Given the description of an element on the screen output the (x, y) to click on. 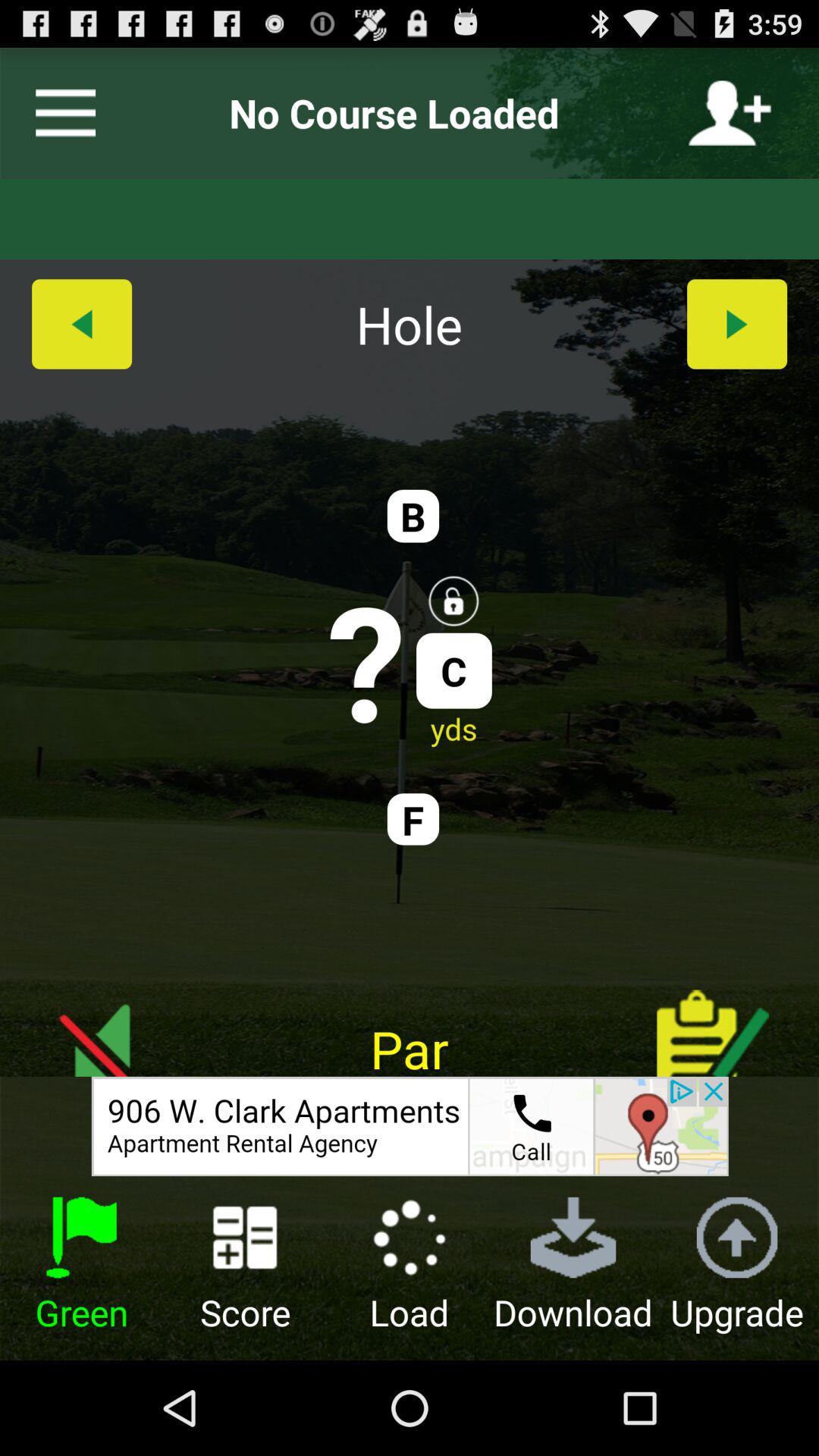
add person (729, 112)
